Given the description of an element on the screen output the (x, y) to click on. 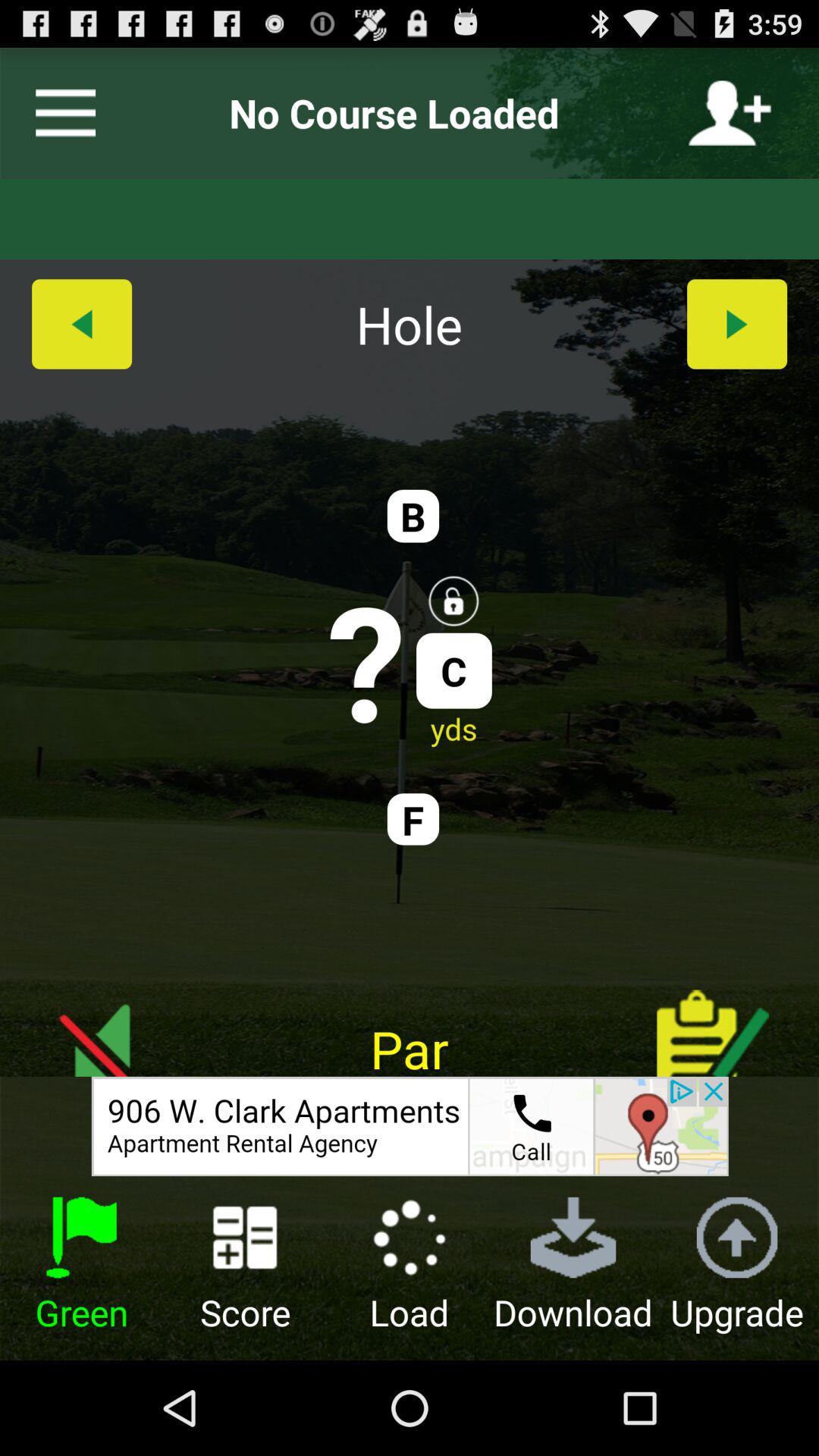
add person (729, 112)
